Given the description of an element on the screen output the (x, y) to click on. 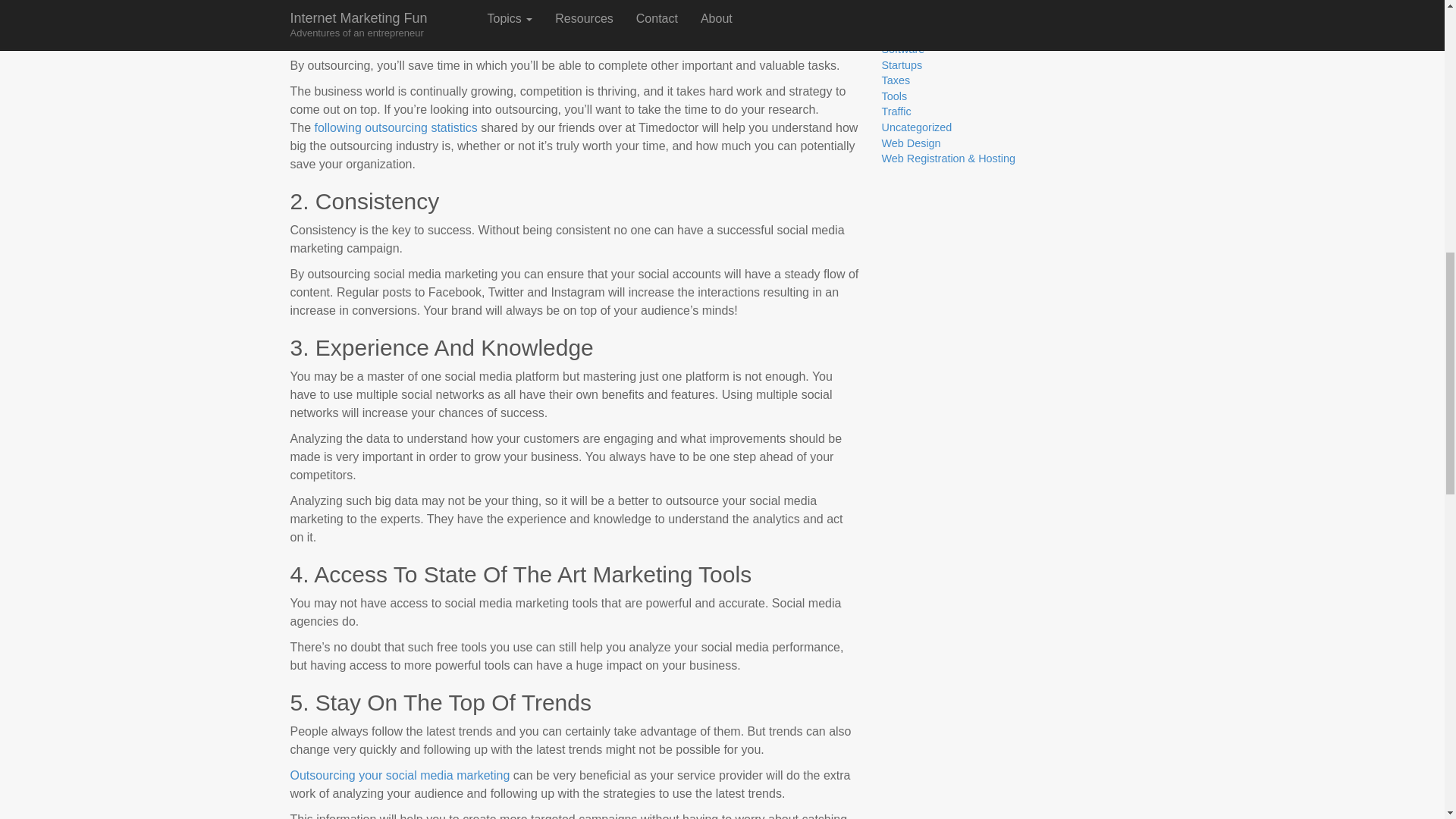
Outsourcing your social media marketing (399, 775)
 following outsourcing statistics (394, 127)
